Given the description of an element on the screen output the (x, y) to click on. 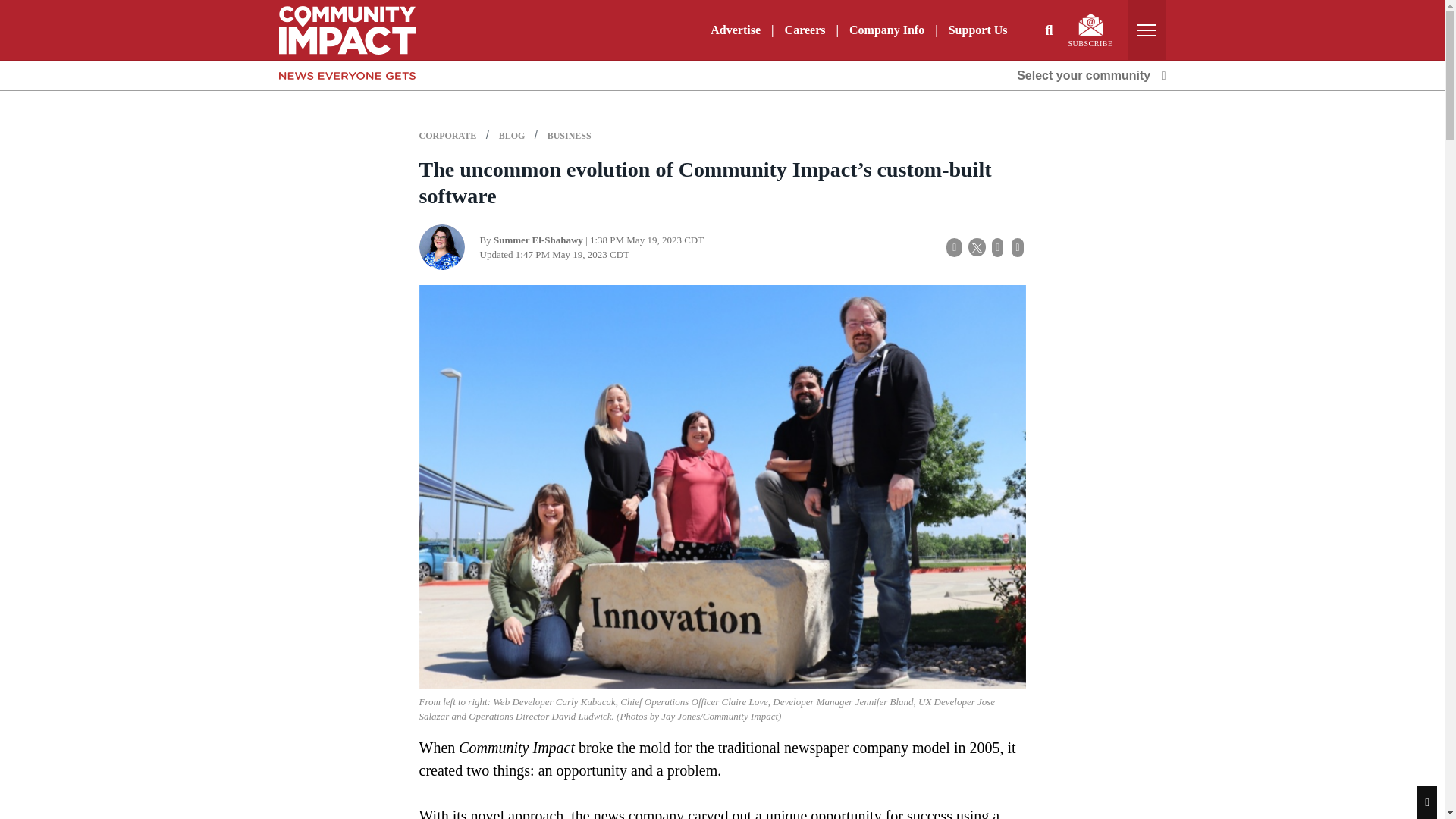
Community Impact Newspaper (346, 29)
Support Us (977, 29)
Careers (804, 29)
Company Info (886, 29)
Email Newsletter (1090, 24)
Advertise (735, 29)
SUBSCRIBE (1090, 30)
